Given the description of an element on the screen output the (x, y) to click on. 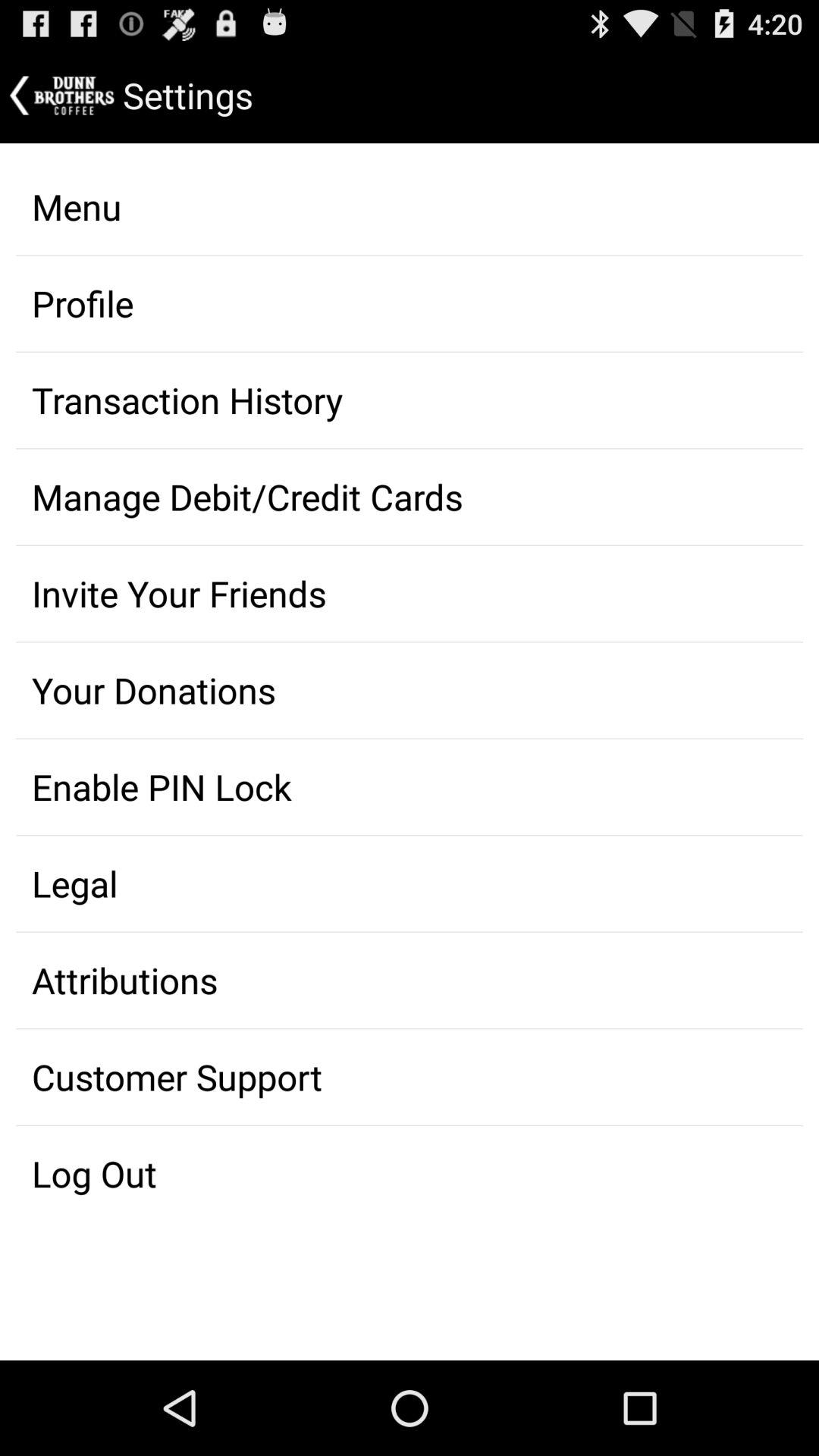
turn off the menu icon (409, 206)
